Given the description of an element on the screen output the (x, y) to click on. 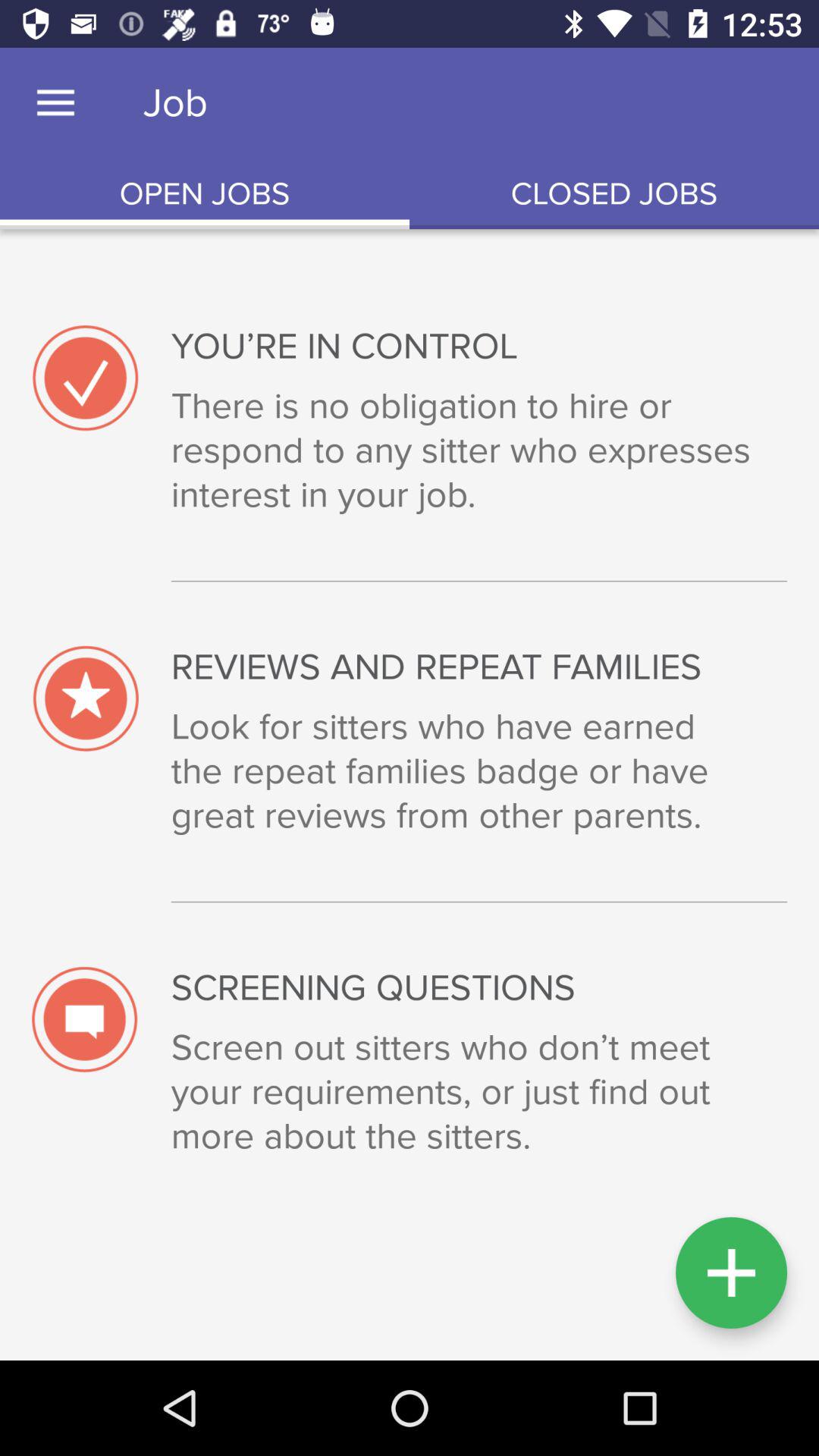
add button (731, 1272)
